Given the description of an element on the screen output the (x, y) to click on. 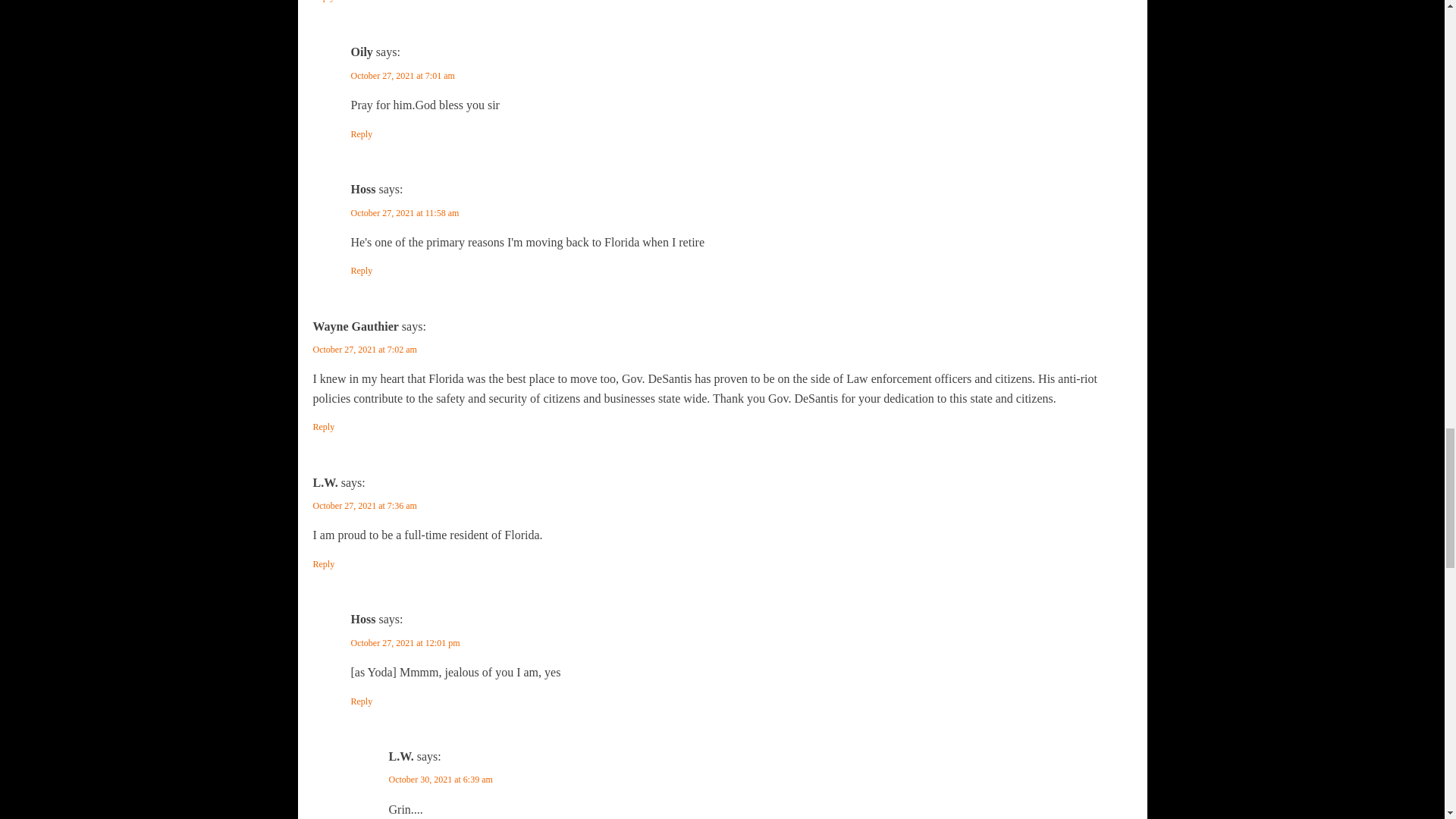
October 27, 2021 at 7:01 am (402, 75)
Reply (323, 2)
Reply (361, 701)
Reply (361, 270)
October 27, 2021 at 7:36 am (364, 505)
October 27, 2021 at 11:58 am (404, 213)
October 27, 2021 at 12:01 pm (405, 643)
October 27, 2021 at 7:02 am (364, 348)
Reply (361, 134)
October 30, 2021 at 6:39 am (440, 778)
Reply (323, 427)
Reply (323, 564)
